Given the description of an element on the screen output the (x, y) to click on. 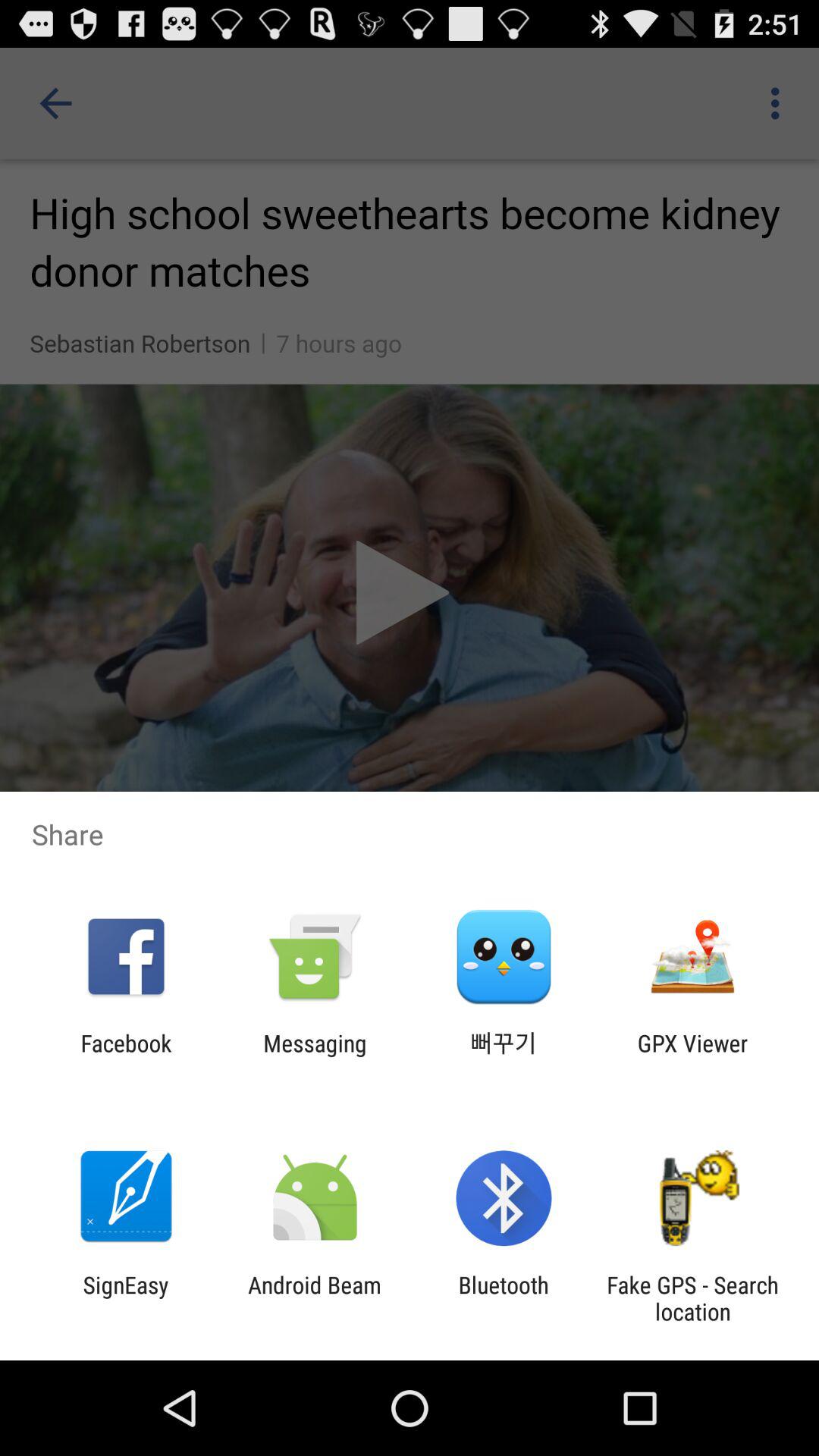
scroll until the facebook item (125, 1056)
